Given the description of an element on the screen output the (x, y) to click on. 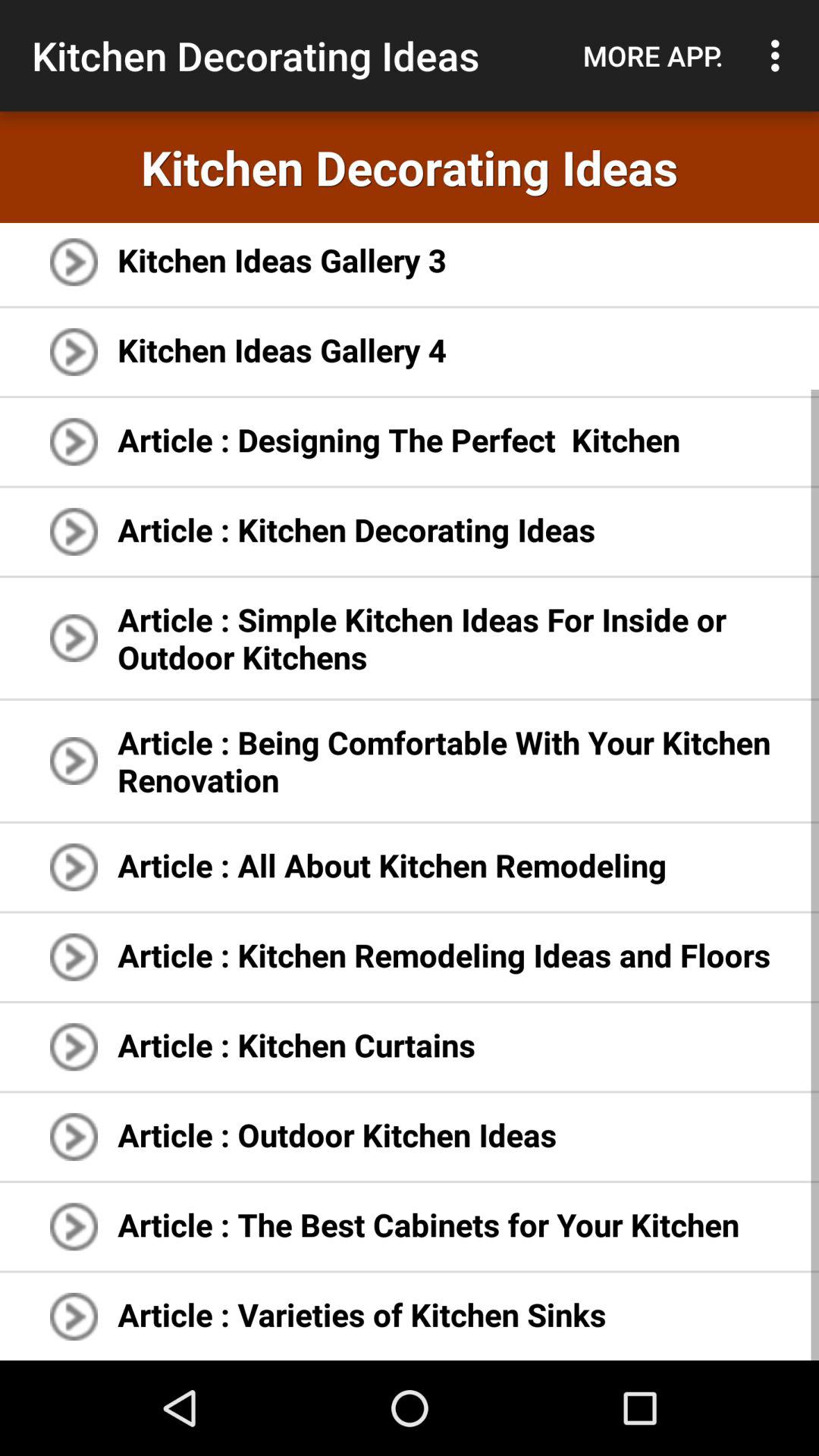
click on the arrow which is left hand side of the text kitchen ideas gallery 3 (73, 261)
